Given the description of an element on the screen output the (x, y) to click on. 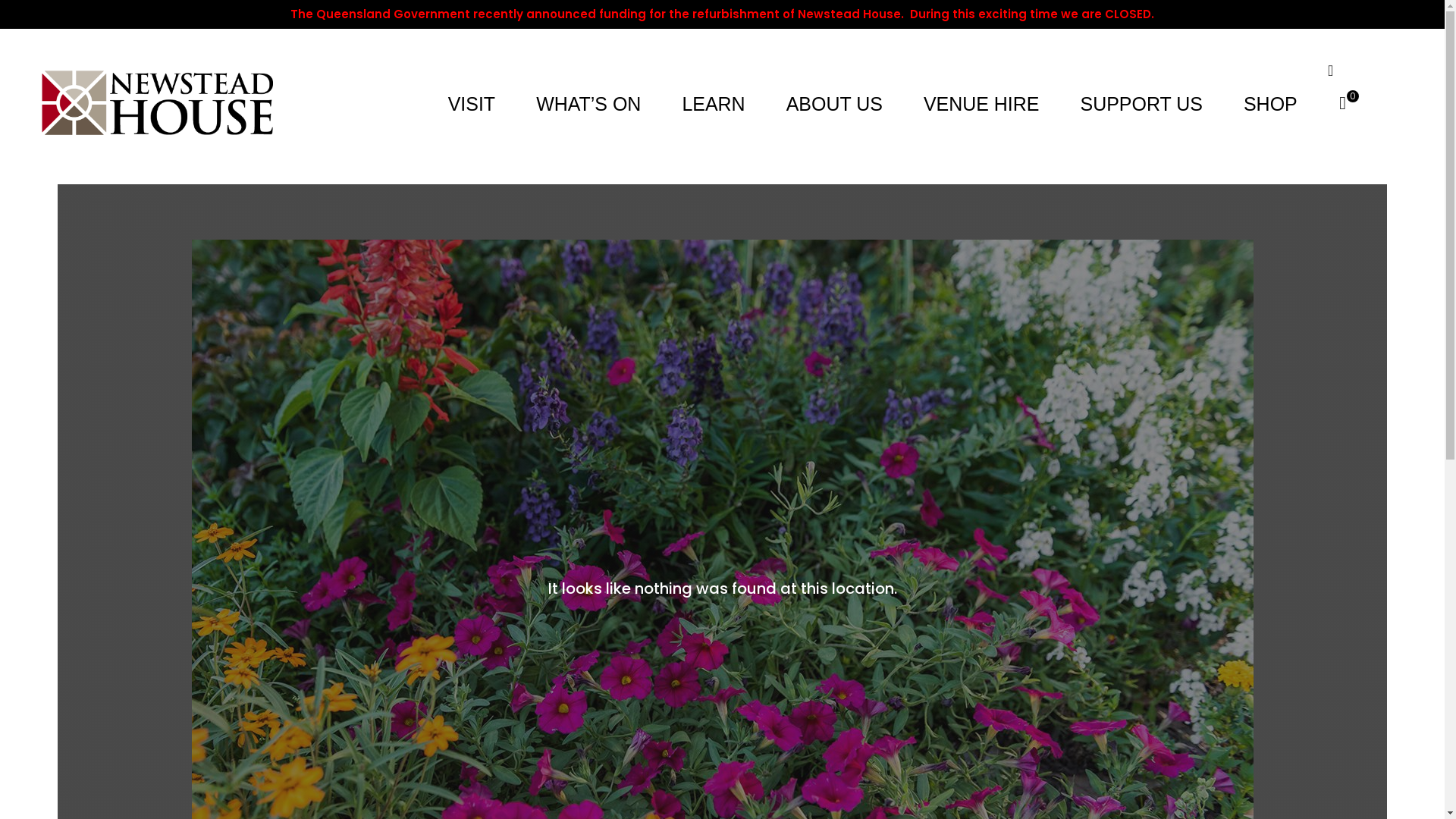
ABOUT US Element type: text (834, 103)
SHOP Element type: text (1268, 103)
SUPPORT US Element type: text (1141, 103)
LEARN Element type: text (713, 103)
0 Element type: text (1342, 103)
VENUE HIRE Element type: text (981, 103)
VISIT Element type: text (471, 103)
